Given the description of an element on the screen output the (x, y) to click on. 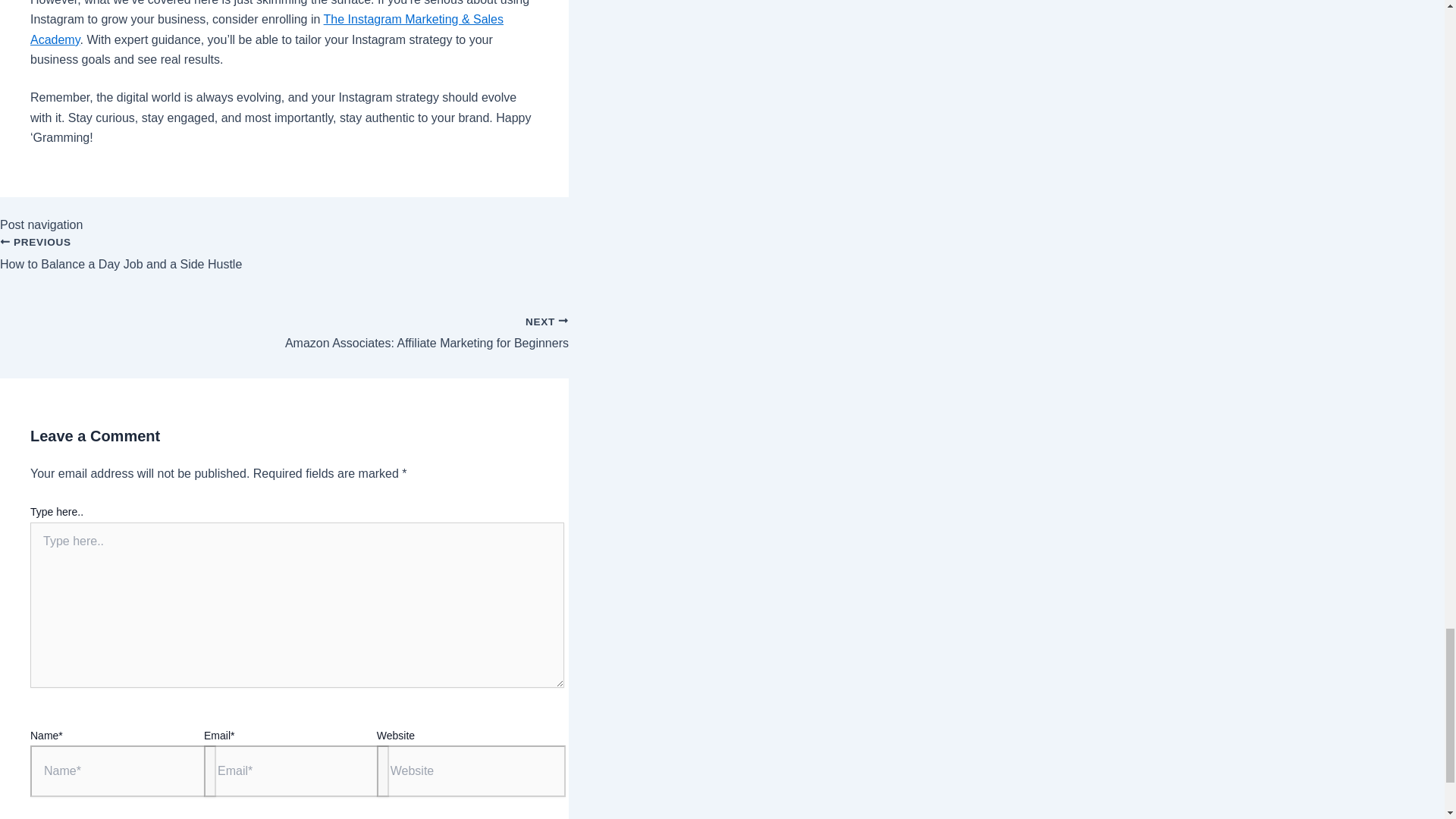
How to Balance a Day Job and a Side Hustle (284, 262)
Amazon Associates: Affiliate Marketing for Beginners (284, 262)
